Given the description of an element on the screen output the (x, y) to click on. 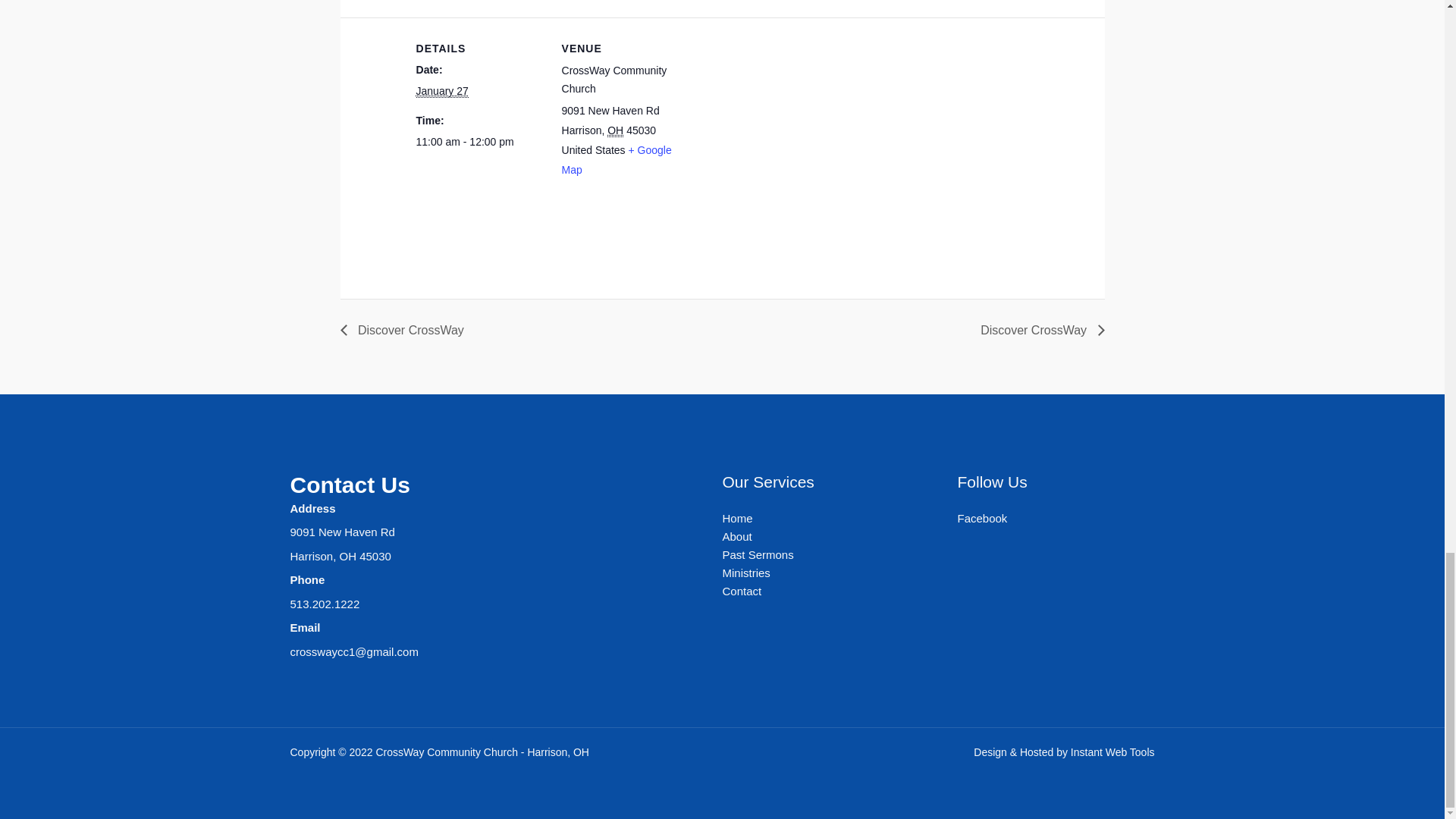
Click to view a Google Map (616, 160)
2024-01-27 (479, 140)
Ohio (615, 130)
2024-01-27 (442, 91)
